Given the description of an element on the screen output the (x, y) to click on. 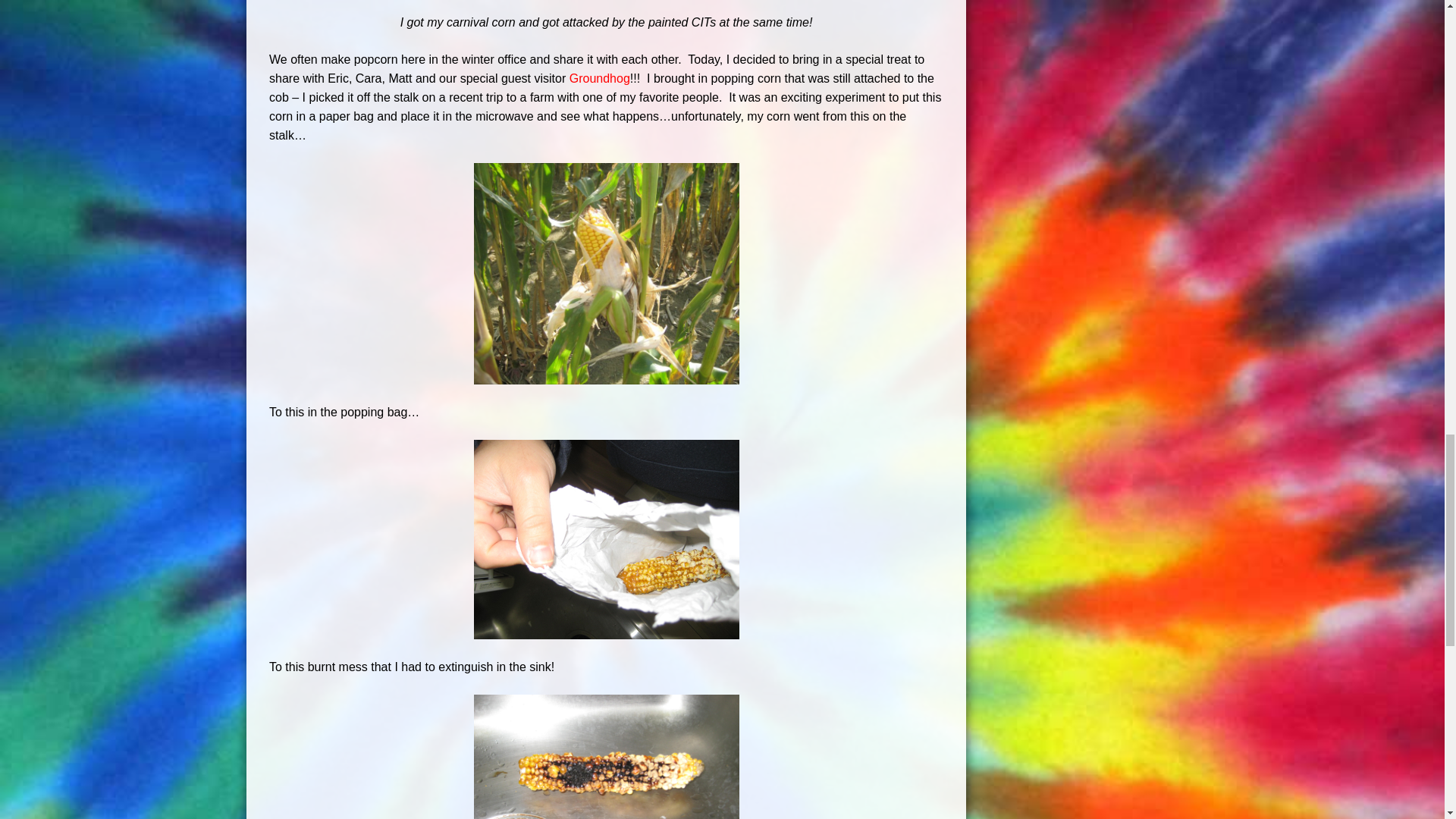
Corn 7 (605, 273)
Corn 8 (605, 756)
Corn 9 (605, 539)
